Given the description of an element on the screen output the (x, y) to click on. 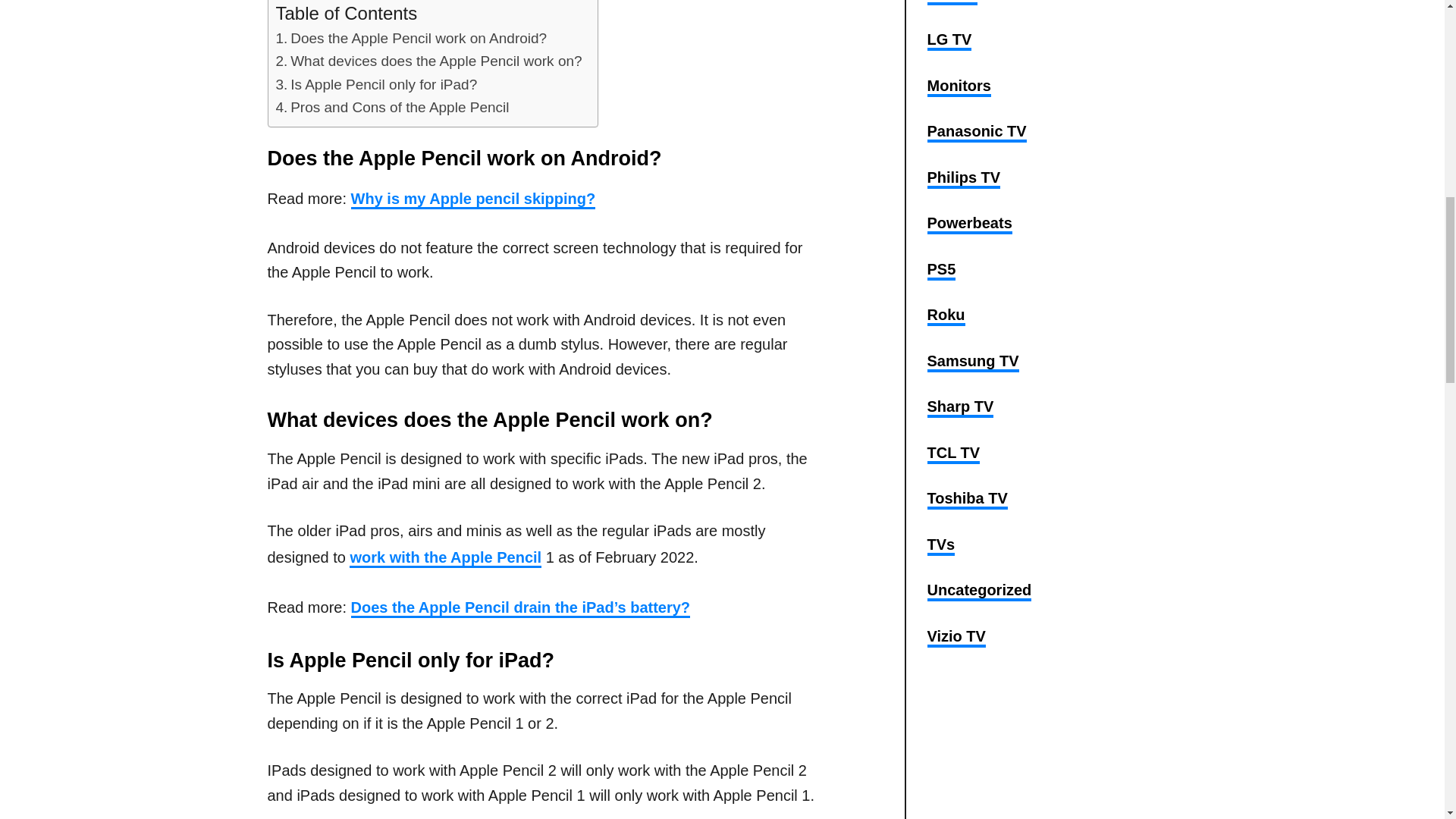
Pros and Cons of the Apple Pencil (392, 107)
Pros and Cons of the Apple Pencil (392, 107)
Does the Apple Pencil work on Android? (411, 37)
Is Apple Pencil only for iPad? (376, 84)
work with the Apple Pencil (445, 558)
Why is my Apple pencil skipping? (472, 199)
Is Apple Pencil only for iPad? (376, 84)
Does the Apple Pencil work on Android? (411, 37)
What devices does the Apple Pencil work on? (429, 60)
What devices does the Apple Pencil work on? (429, 60)
